Given the description of an element on the screen output the (x, y) to click on. 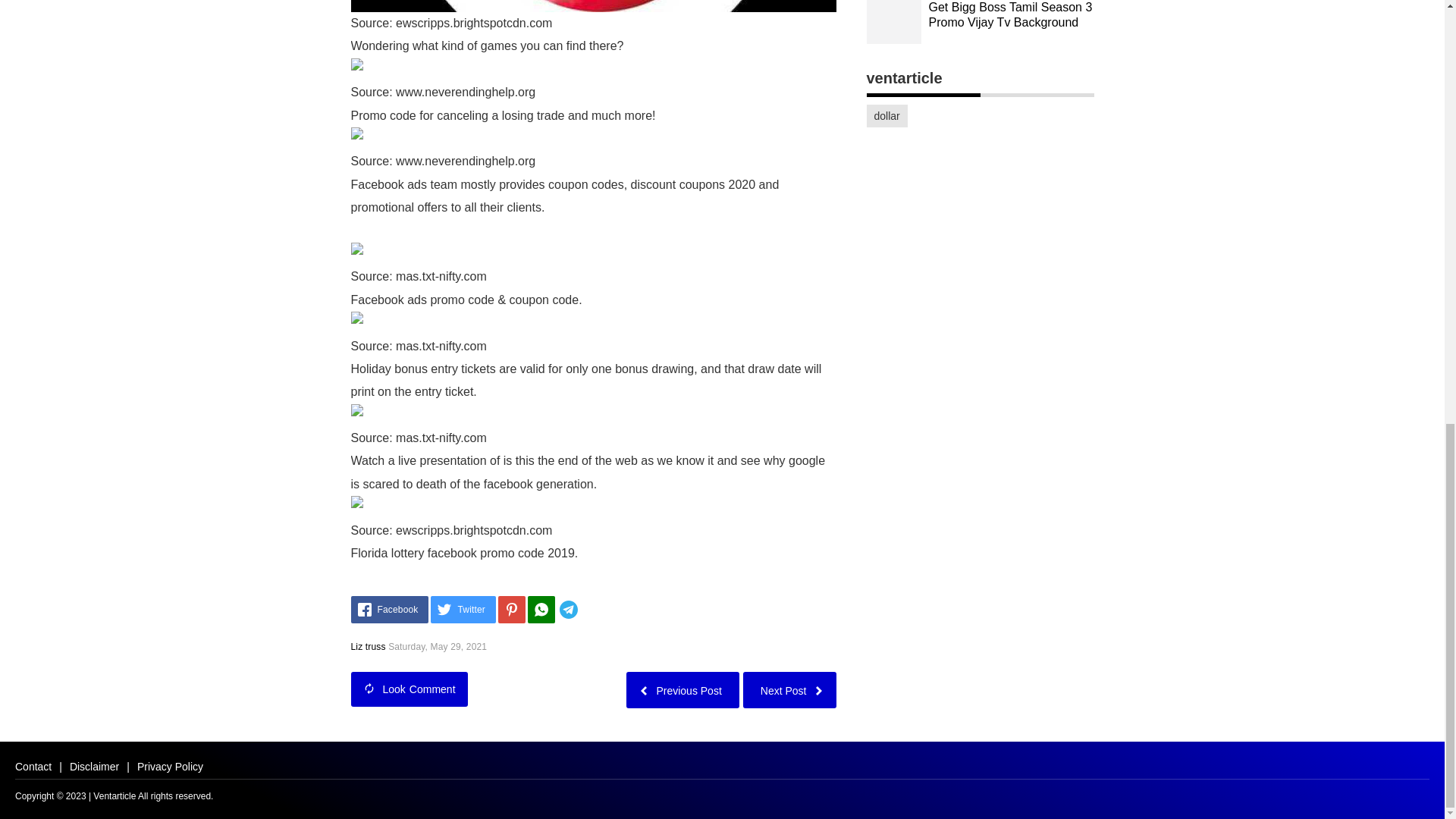
Facebook (389, 609)
Twitter (462, 609)
Previous Post (682, 689)
author profile (367, 646)
Share to Telegram (590, 609)
Liz truss (367, 646)
Share on Pinterest (511, 609)
Next Post (788, 689)
Older Post (682, 689)
Telegram (590, 609)
